Given the description of an element on the screen output the (x, y) to click on. 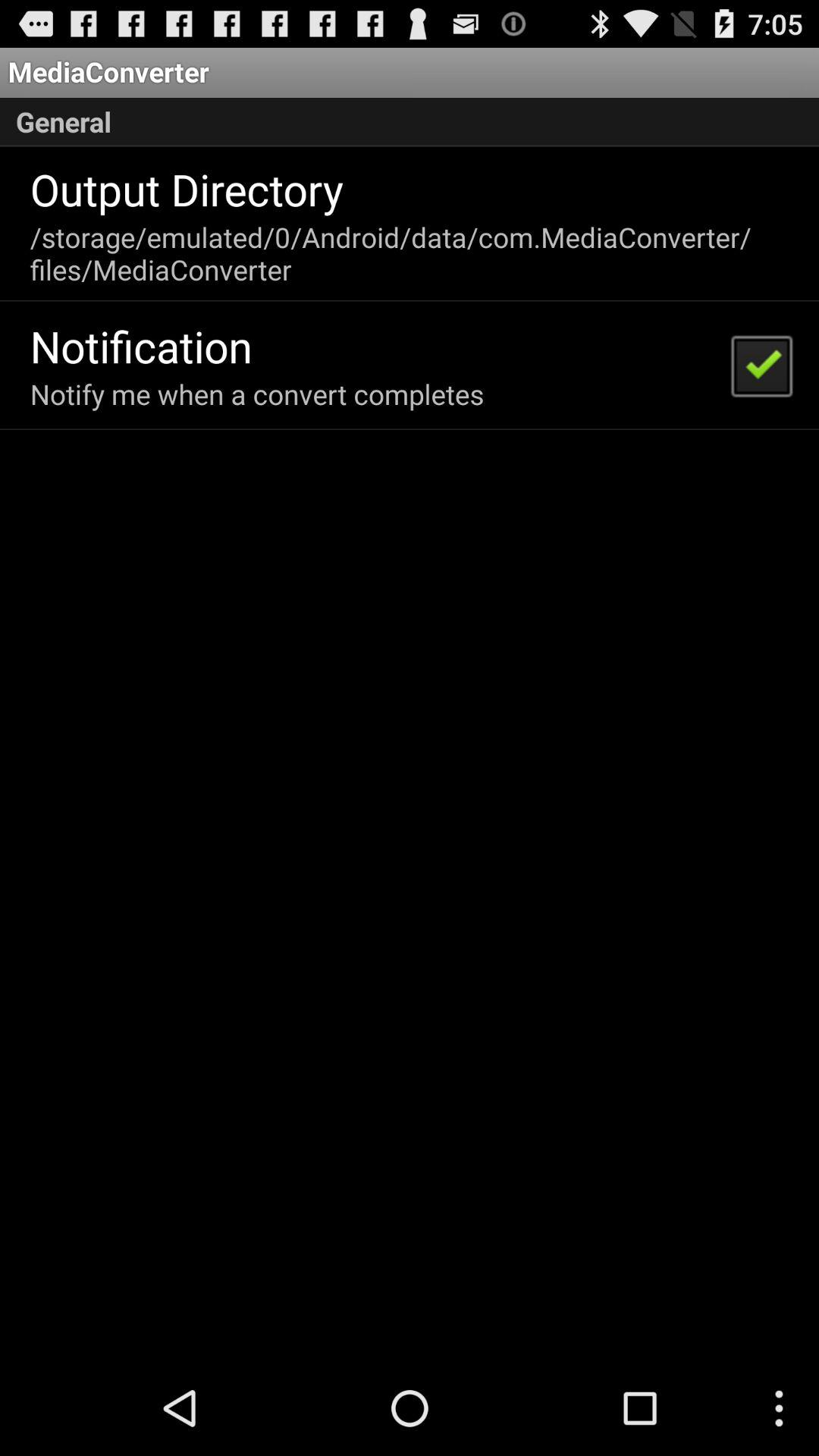
launch the notification item (141, 345)
